Given the description of an element on the screen output the (x, y) to click on. 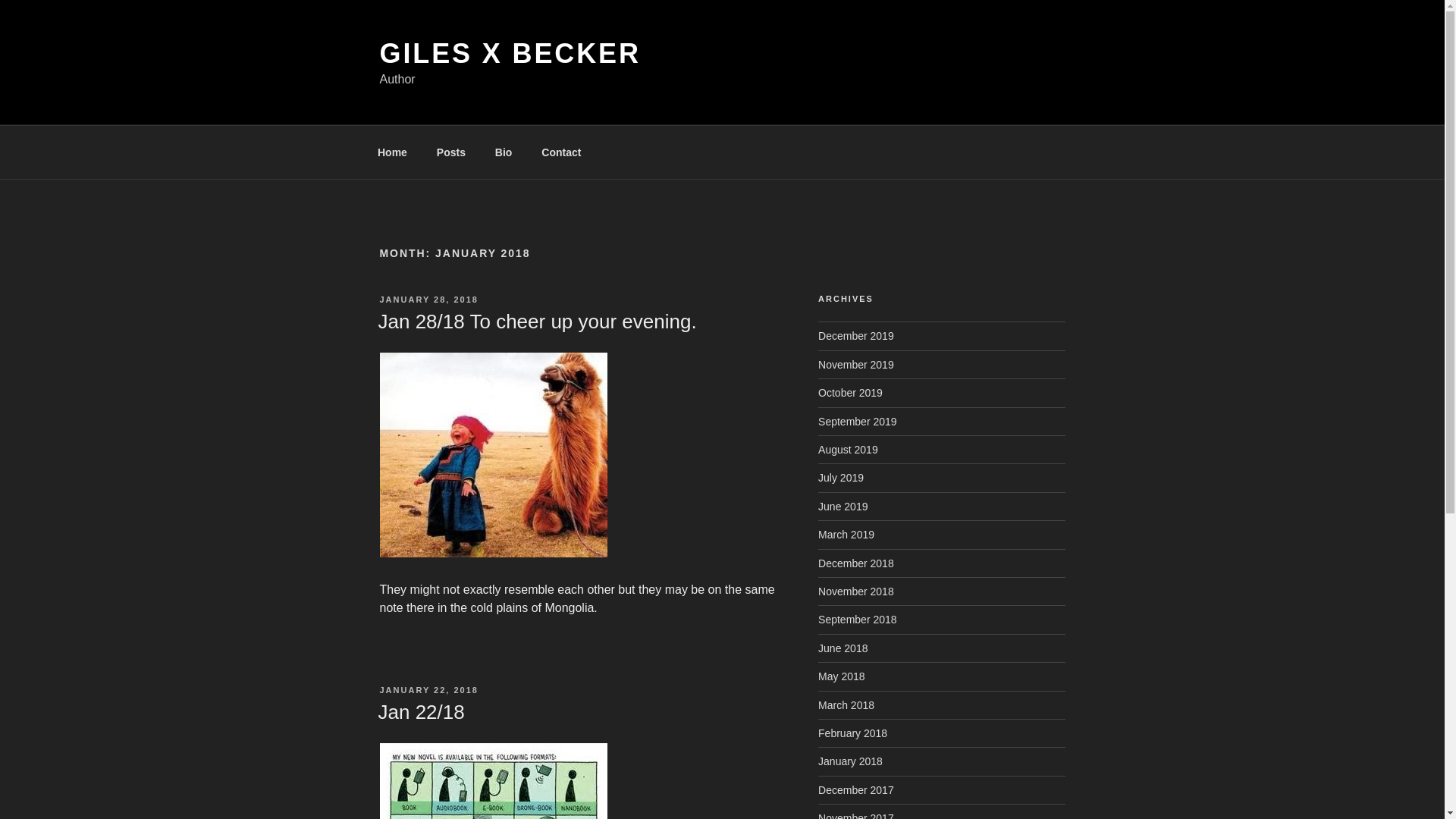
Contact (561, 151)
December 2019 (855, 336)
January 2018 (850, 761)
February 2018 (852, 733)
March 2018 (846, 705)
December 2017 (855, 789)
December 2018 (855, 563)
GILES X BECKER (509, 52)
May 2018 (841, 676)
Posts (451, 151)
JANUARY 22, 2018 (427, 689)
March 2019 (846, 534)
November 2018 (855, 591)
August 2019 (847, 449)
June 2018 (842, 648)
